Given the description of an element on the screen output the (x, y) to click on. 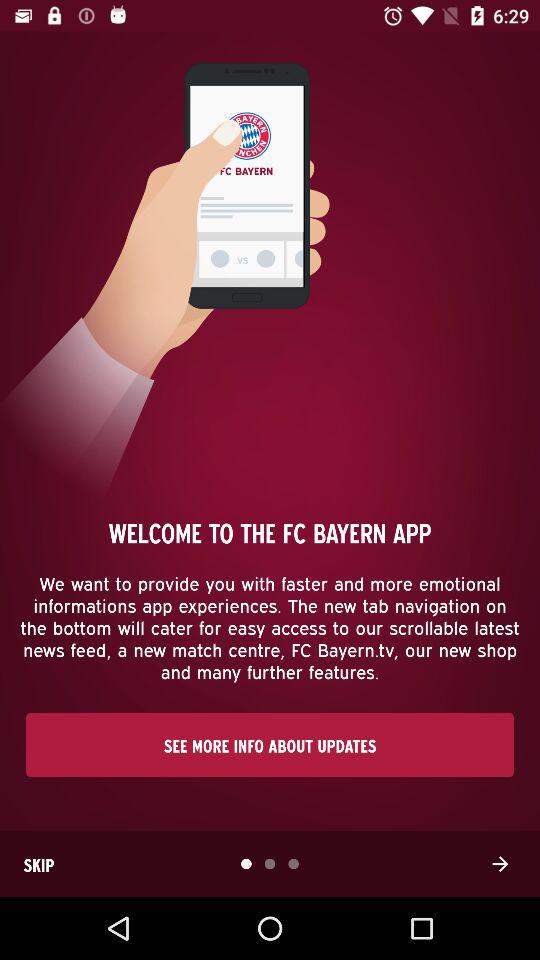
choose the icon at the bottom right corner (500, 864)
